Given the description of an element on the screen output the (x, y) to click on. 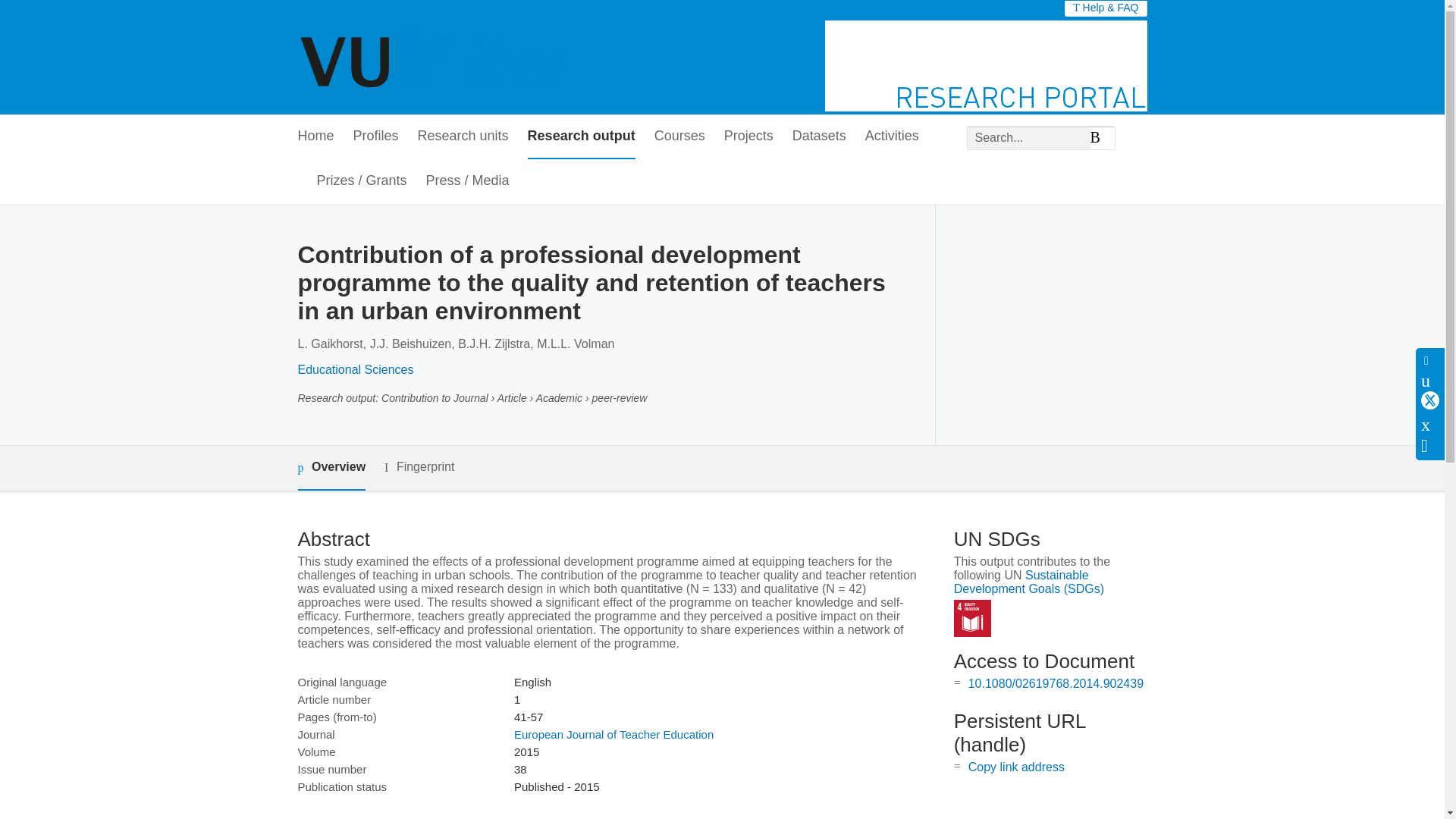
Datasets (818, 136)
European Journal of Teacher Education (613, 734)
Profiles (375, 136)
Activities (891, 136)
SDG 4 - Quality Education (972, 618)
Projects (748, 136)
Courses (678, 136)
Copy link address (1016, 766)
Vrije Universiteit Amsterdam Home (433, 57)
Research units (462, 136)
Educational Sciences (355, 369)
Overview (331, 467)
Fingerprint (419, 466)
Research output (580, 136)
